Given the description of an element on the screen output the (x, y) to click on. 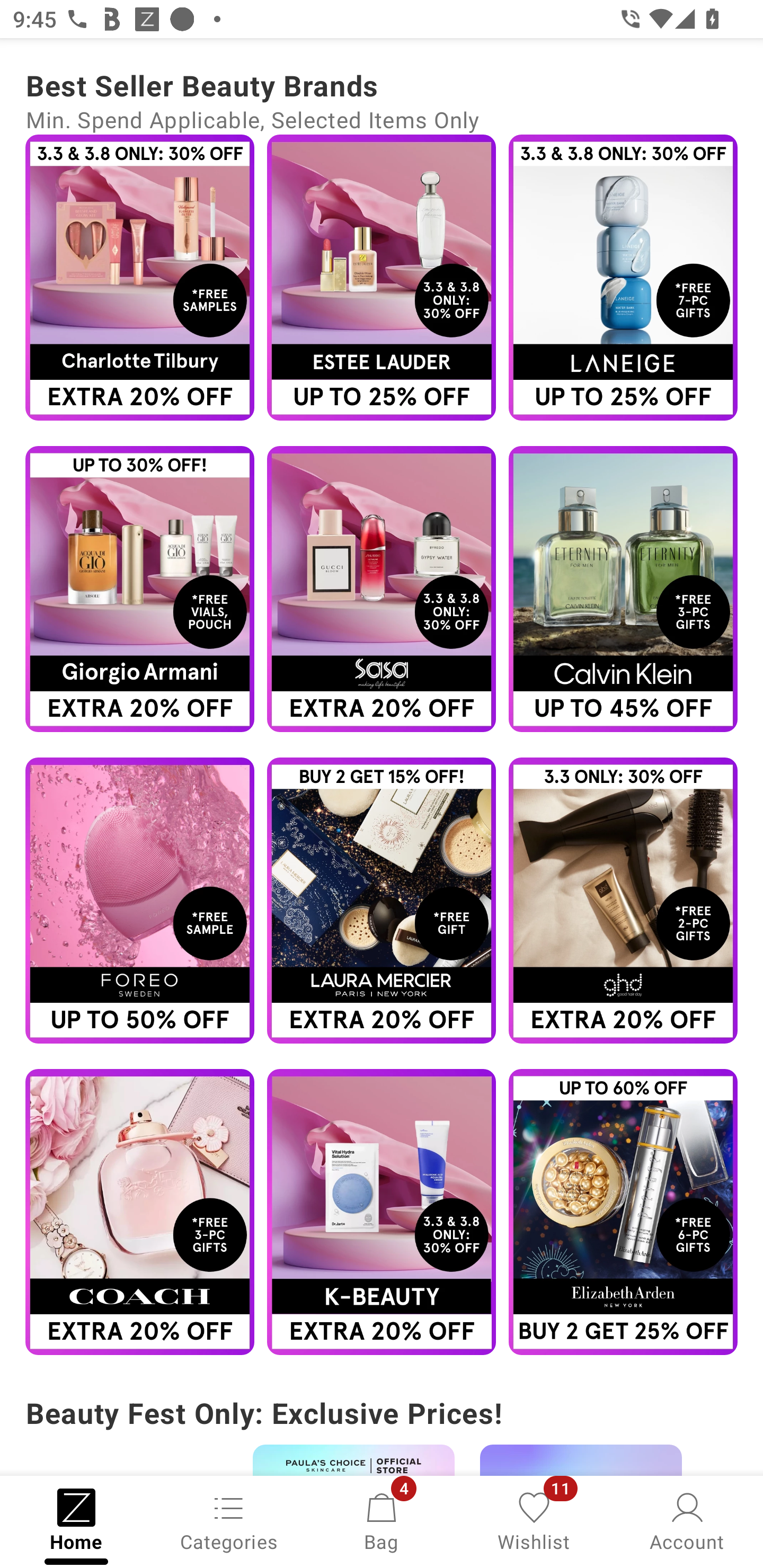
Campaign banner (139, 277)
Campaign banner (381, 277)
Campaign banner (622, 277)
Campaign banner (139, 588)
Campaign banner (381, 588)
Campaign banner (622, 588)
Campaign banner (139, 900)
Campaign banner (381, 900)
Campaign banner (622, 900)
Campaign banner (139, 1211)
Campaign banner (381, 1211)
Campaign banner (622, 1211)
Categories (228, 1519)
Bag, 4 new notifications Bag (381, 1519)
Wishlist, 11 new notifications Wishlist (533, 1519)
Account (686, 1519)
